Given the description of an element on the screen output the (x, y) to click on. 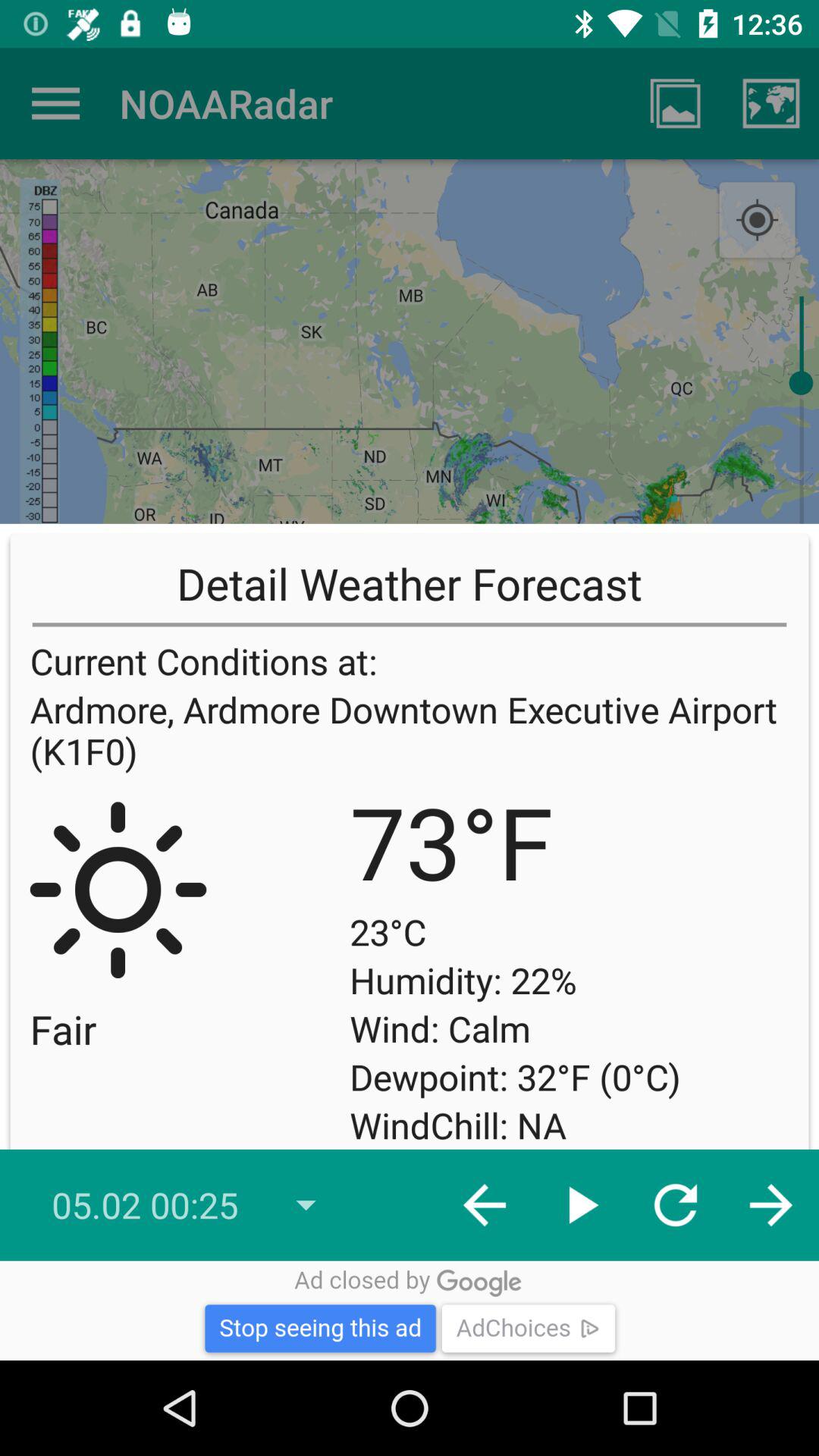
choose the item next to 05 02 00 app (484, 1204)
